Given the description of an element on the screen output the (x, y) to click on. 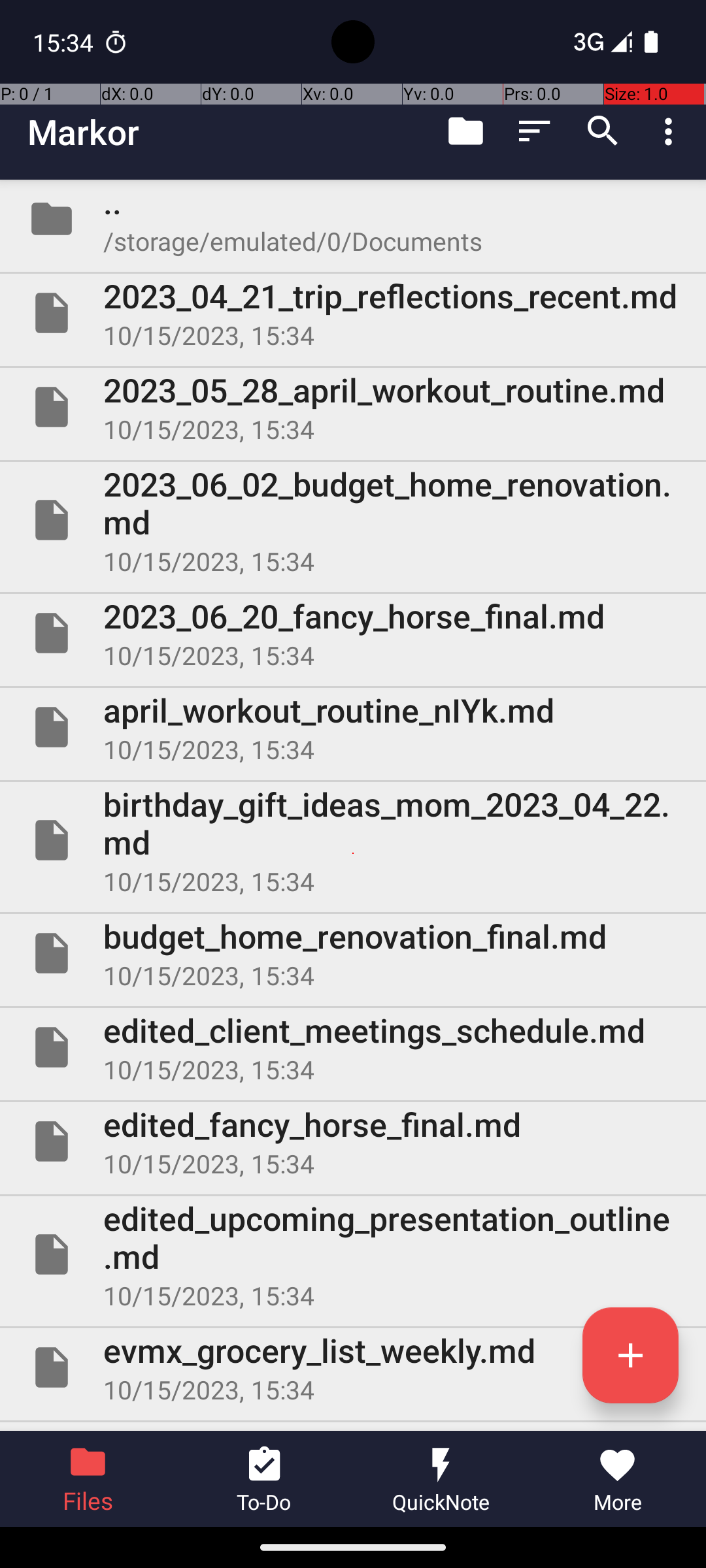
File 2023_04_21_trip_reflections_recent.md  Element type: android.widget.LinearLayout (353, 312)
File 2023_05_28_april_workout_routine.md  Element type: android.widget.LinearLayout (353, 406)
File 2023_06_02_budget_home_renovation.md  Element type: android.widget.LinearLayout (353, 519)
File 2023_06_20_fancy_horse_final.md  Element type: android.widget.LinearLayout (353, 632)
File april_workout_routine_nIYk.md  Element type: android.widget.LinearLayout (353, 726)
File birthday_gift_ideas_mom_2023_04_22.md  Element type: android.widget.LinearLayout (353, 840)
File budget_home_renovation_final.md  Element type: android.widget.LinearLayout (353, 953)
File edited_client_meetings_schedule.md  Element type: android.widget.LinearLayout (353, 1047)
File edited_fancy_horse_final.md  Element type: android.widget.LinearLayout (353, 1141)
File edited_upcoming_presentation_outline.md  Element type: android.widget.LinearLayout (353, 1254)
File evmx_grocery_list_weekly.md  Element type: android.widget.LinearLayout (353, 1367)
File fancy_horse_final  Element type: android.widget.LinearLayout (353, 1426)
